Given the description of an element on the screen output the (x, y) to click on. 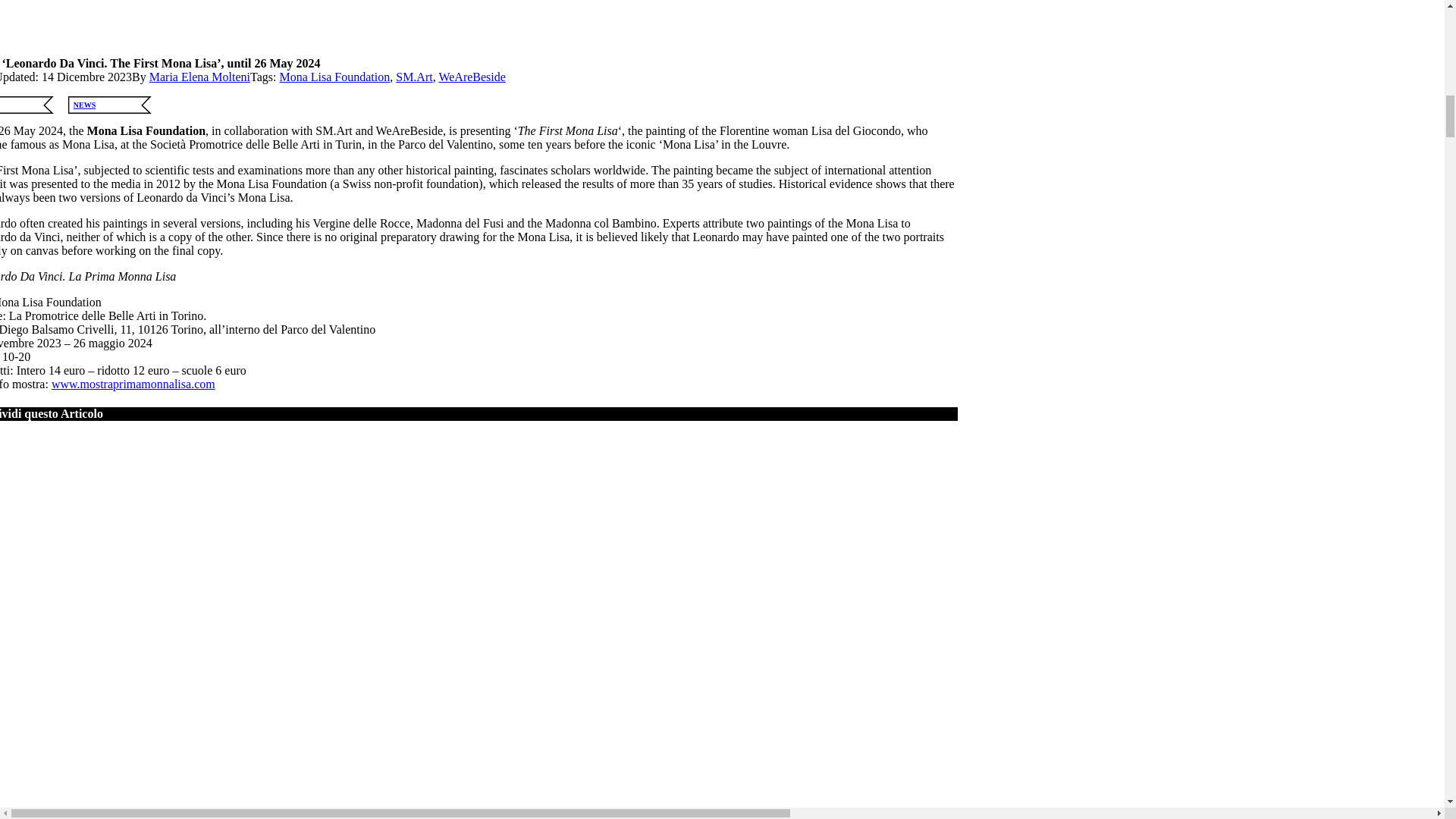
Articoli scritti da Maria Elena Molteni (199, 76)
www.mostraprimamonnalisa.com (132, 383)
Maria Elena Molteni (199, 76)
WeAreBeside (471, 76)
Mona Lisa Foundation (334, 76)
SM.Art (414, 76)
NEWS (114, 104)
Arte (32, 104)
ARTE (32, 104)
News (114, 104)
